Given the description of an element on the screen output the (x, y) to click on. 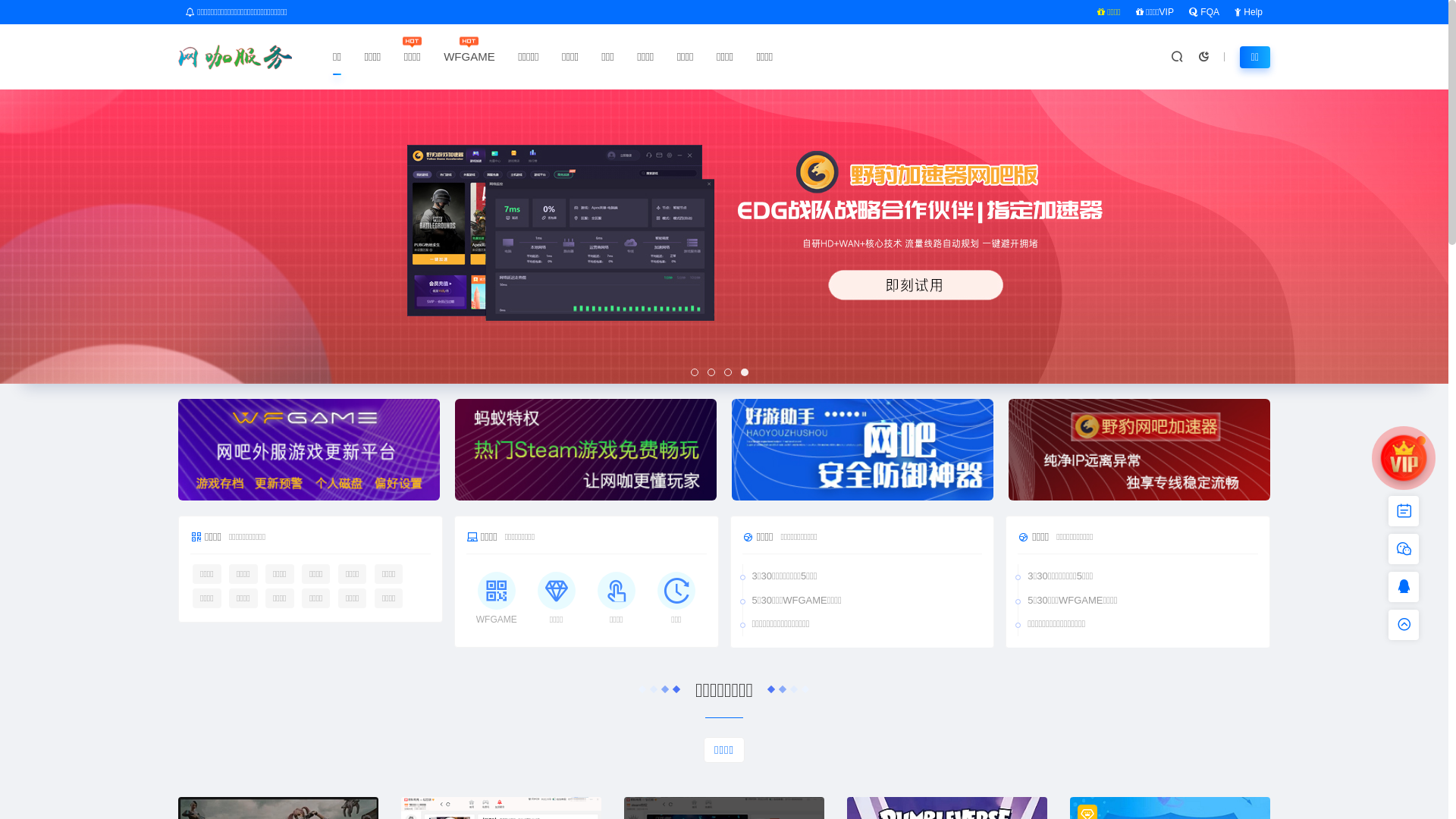
WFGAME Element type: text (469, 56)
Help Element type: text (1248, 11)
WFGAME Element type: text (496, 598)
FQA Element type: text (1204, 11)
